Given the description of an element on the screen output the (x, y) to click on. 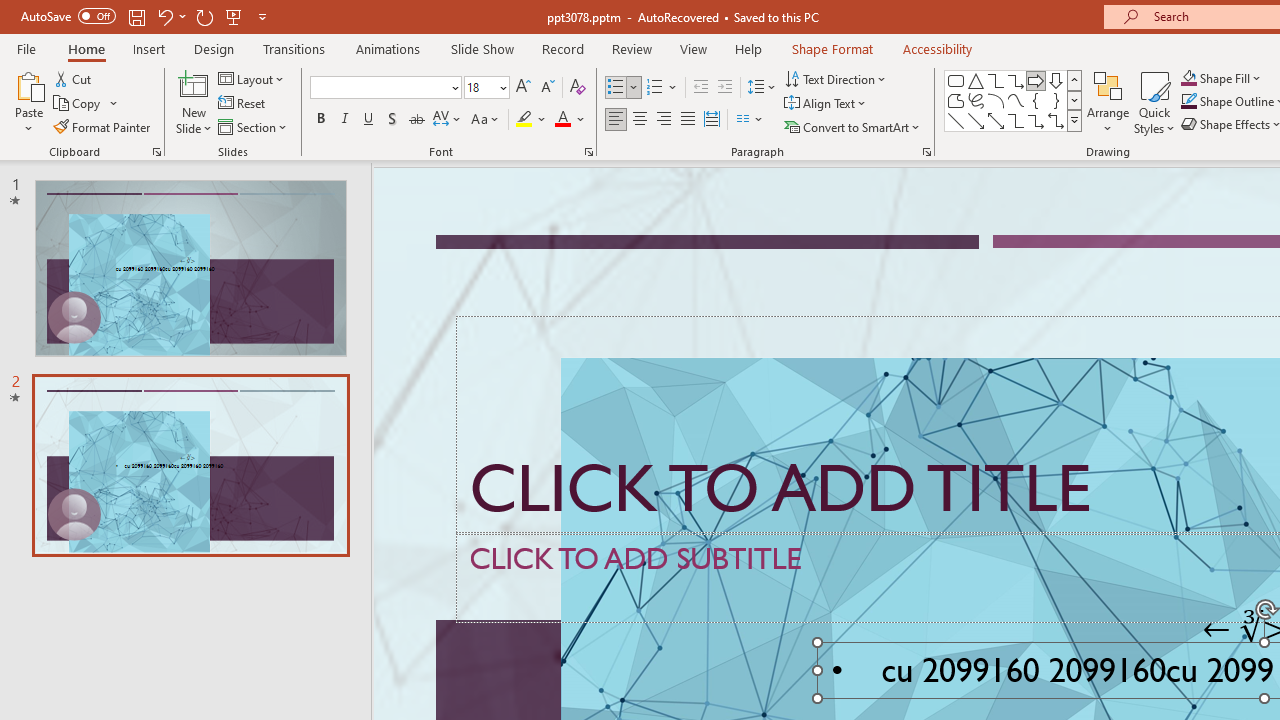
Line Arrow: Double (995, 120)
